Given the description of an element on the screen output the (x, y) to click on. 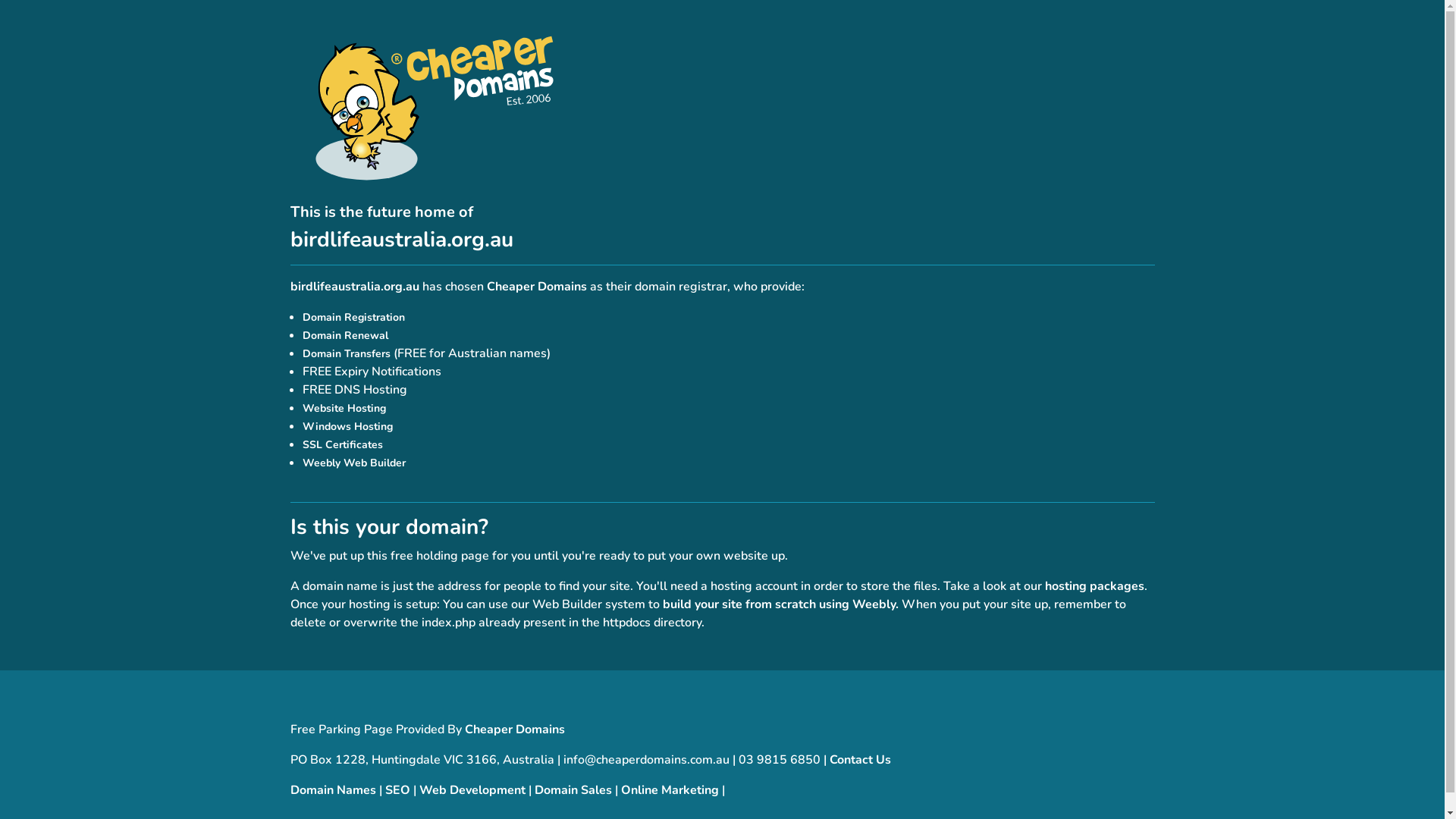
Cheaper Domains Element type: text (514, 729)
Domain Sales Element type: text (572, 789)
Online Marketing Element type: text (669, 789)
hosting packages Element type: text (1094, 585)
Domain Names Element type: text (332, 789)
Domain Registration Element type: text (352, 317)
Website Hosting Element type: text (343, 408)
Web Development Element type: text (471, 789)
SEO Element type: text (397, 789)
build your site from scratch using Weebly. Element type: text (780, 604)
Domain Transfers Element type: text (345, 353)
Domain Renewal Element type: text (344, 335)
Cheaper Domains Element type: text (536, 286)
Windows Hosting Element type: text (346, 426)
Contact Us Element type: text (860, 759)
SSL Certificates Element type: text (341, 444)
Weebly Web Builder Element type: text (352, 462)
